Given the description of an element on the screen output the (x, y) to click on. 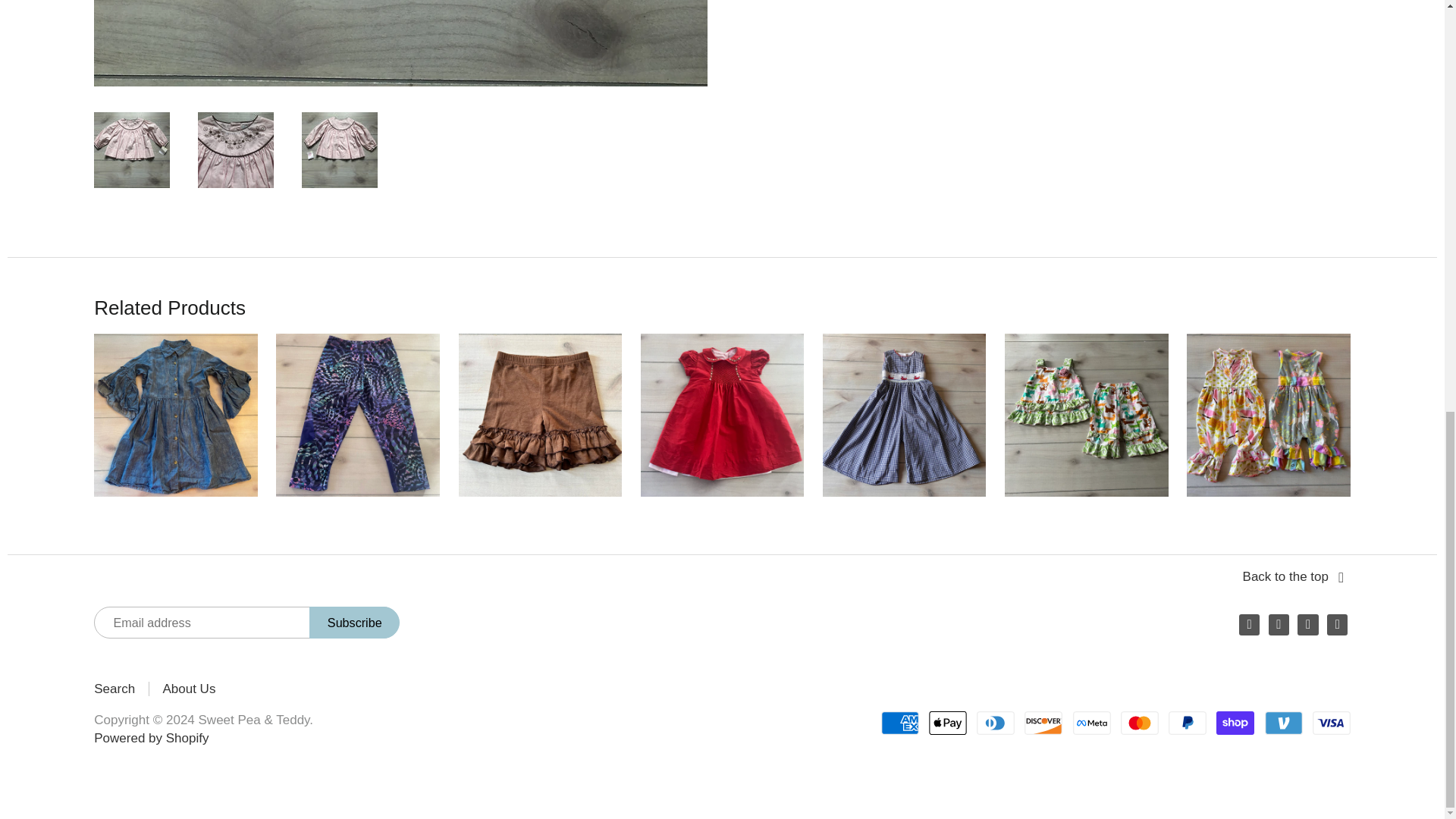
Anavini Smocked Sailboat Romper (903, 414)
Adorable Essentials Brown Ruffle Shorts (539, 414)
A.T.U.N. Denim Bell Sleeve Dress (175, 414)
Subscribe (353, 622)
